Given the description of an element on the screen output the (x, y) to click on. 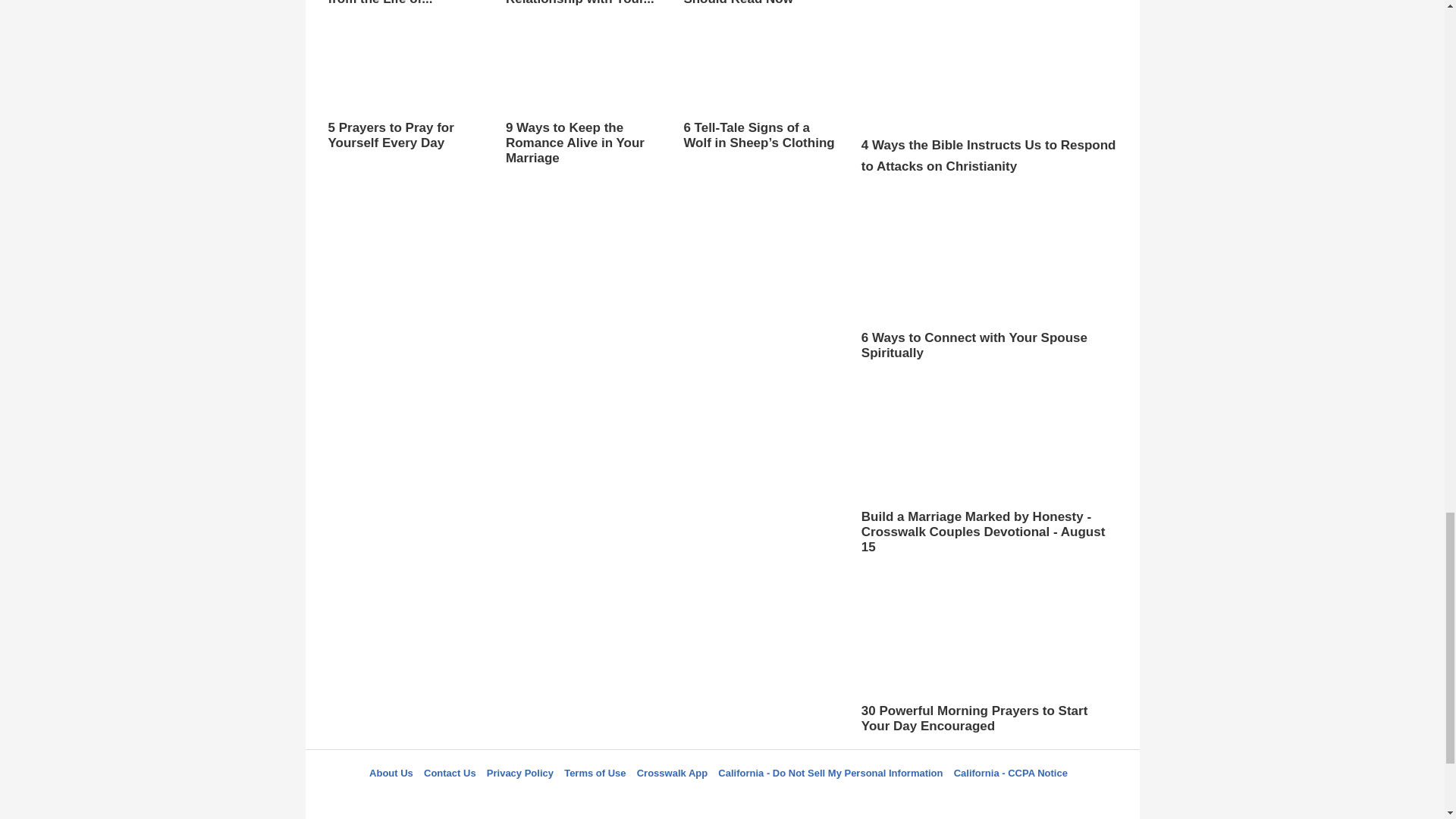
LifeAudio (719, 800)
9 Ways to Keep the Romance Alive in Your Marriage (583, 115)
10 Exciting Christian Suspense Authors You Should Read Now (760, 3)
Facebook (645, 800)
Pinterest (757, 800)
5 Prayers to Pray for Yourself Every Day (404, 93)
Twitter (683, 800)
